Given the description of an element on the screen output the (x, y) to click on. 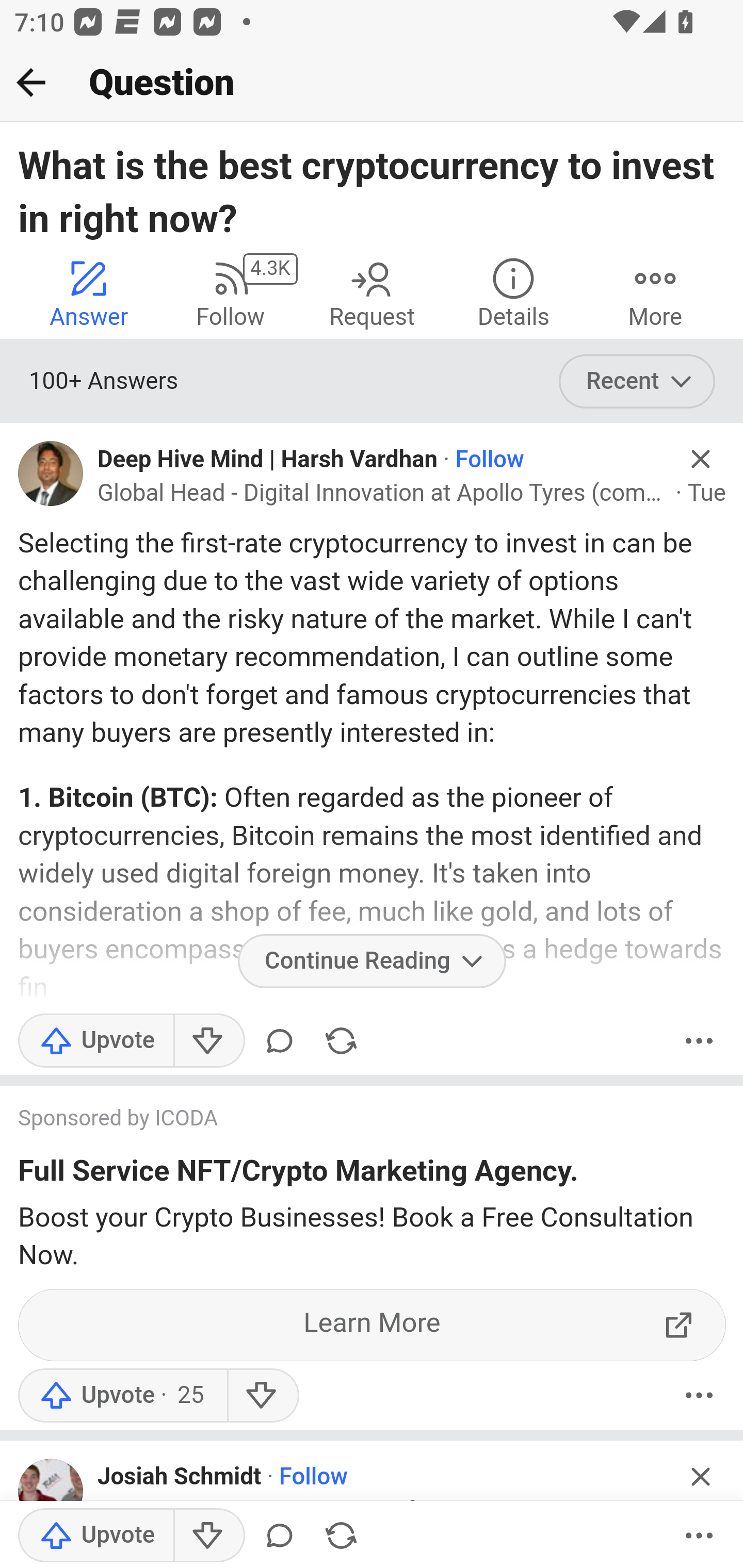
Back Question (371, 82)
Back (30, 82)
Answer (88, 292)
4.3K Follow (230, 292)
Request (371, 292)
Details (513, 292)
More (655, 292)
Recent (636, 381)
Hide (700, 459)
Profile photo for Deep Hive Mind | Harsh Vardhan (50, 473)
Deep Hive Mind | Harsh Vardhan (267, 459)
Follow (489, 459)
Tue (706, 493)
Continue Reading (371, 961)
Upvote (95, 1040)
Downvote (208, 1040)
Comment (278, 1040)
Share (341, 1040)
More (699, 1040)
Sponsored by ICODA (352, 1120)
Full Service NFT/Crypto Marketing Agency. (298, 1174)
Learn More ExternalLink (372, 1324)
Upvote (122, 1395)
Downvote (262, 1395)
More (699, 1395)
Hide (700, 1475)
Profile photo for Josiah Schmidt (50, 1491)
Josiah Schmidt (179, 1477)
Follow (312, 1477)
Upvote (95, 1535)
Downvote (208, 1535)
Comment (278, 1535)
Share (341, 1535)
More (699, 1535)
